Given the description of an element on the screen output the (x, y) to click on. 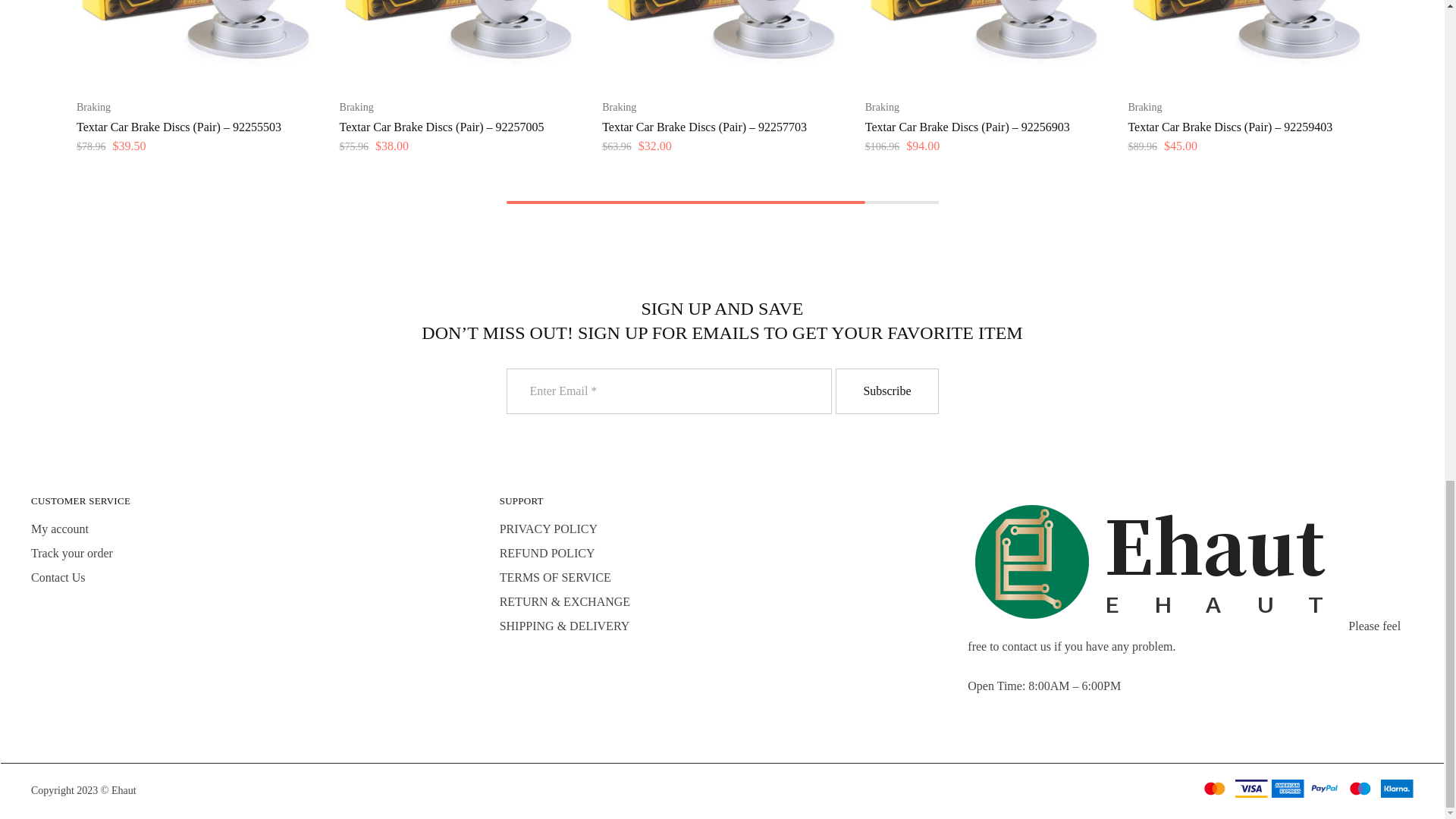
Subscribe (886, 391)
